Given the description of an element on the screen output the (x, y) to click on. 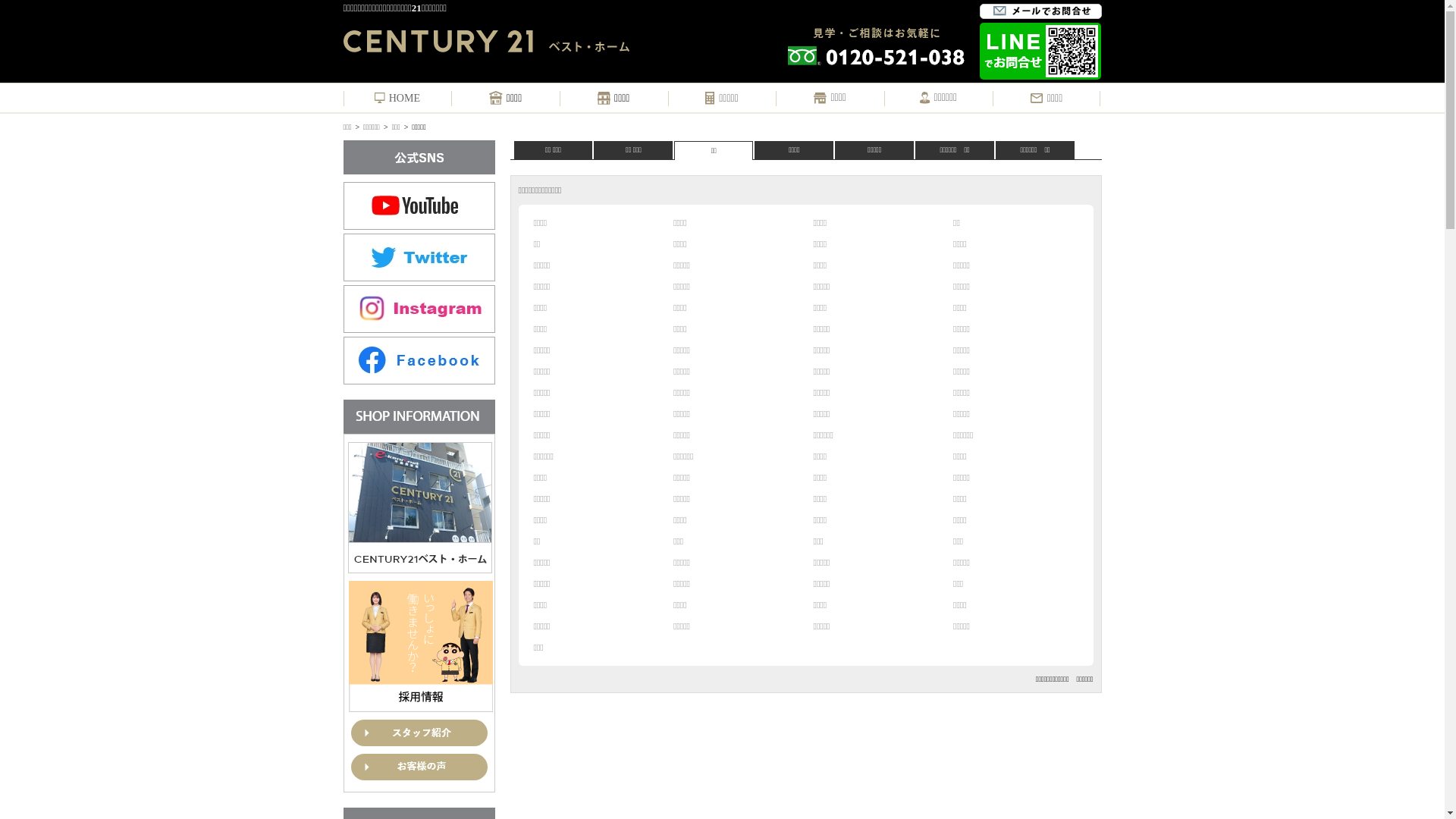
HOME Element type: text (397, 98)
